Given the description of an element on the screen output the (x, y) to click on. 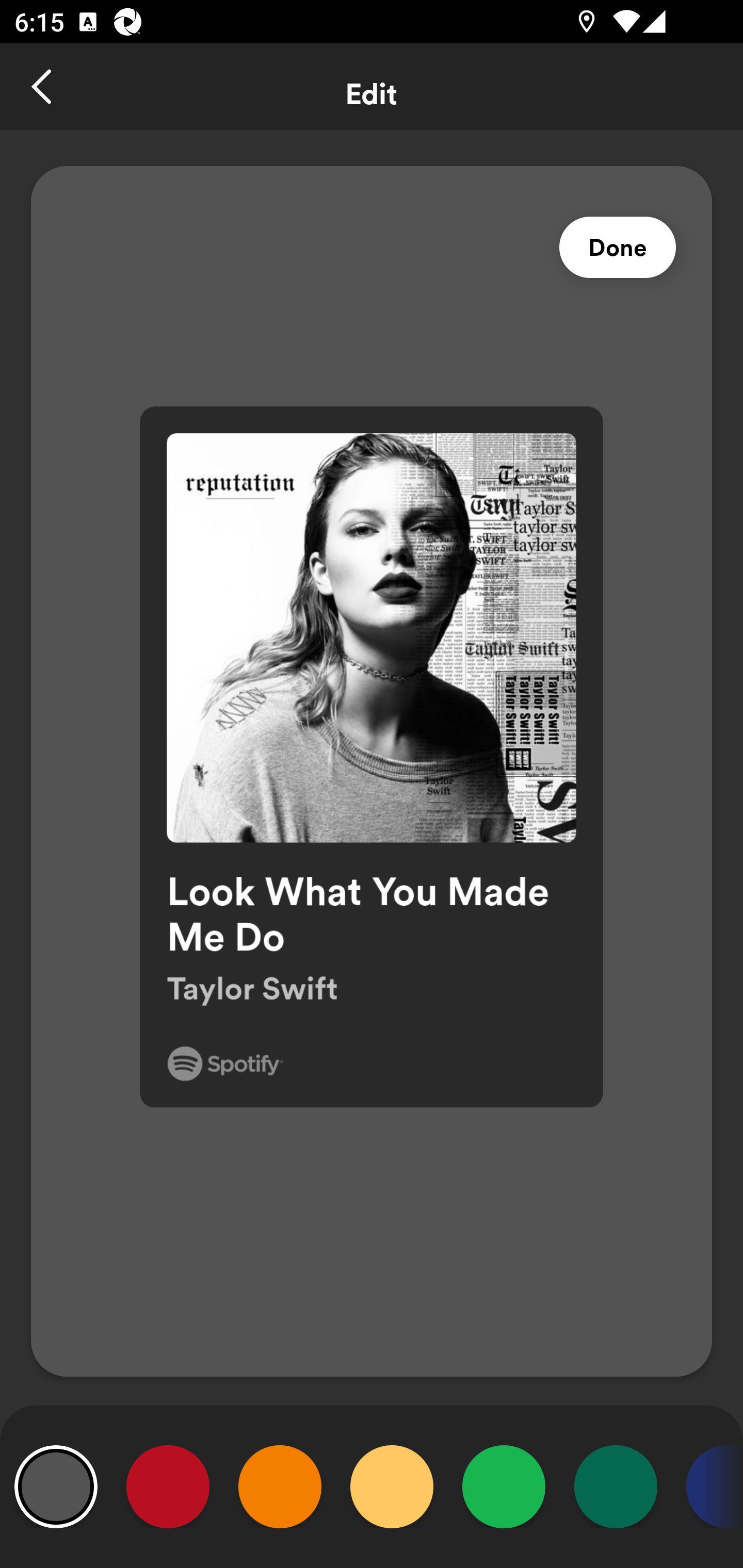
Close the Now Playing View (43, 86)
Done (617, 247)
